Given the description of an element on the screen output the (x, y) to click on. 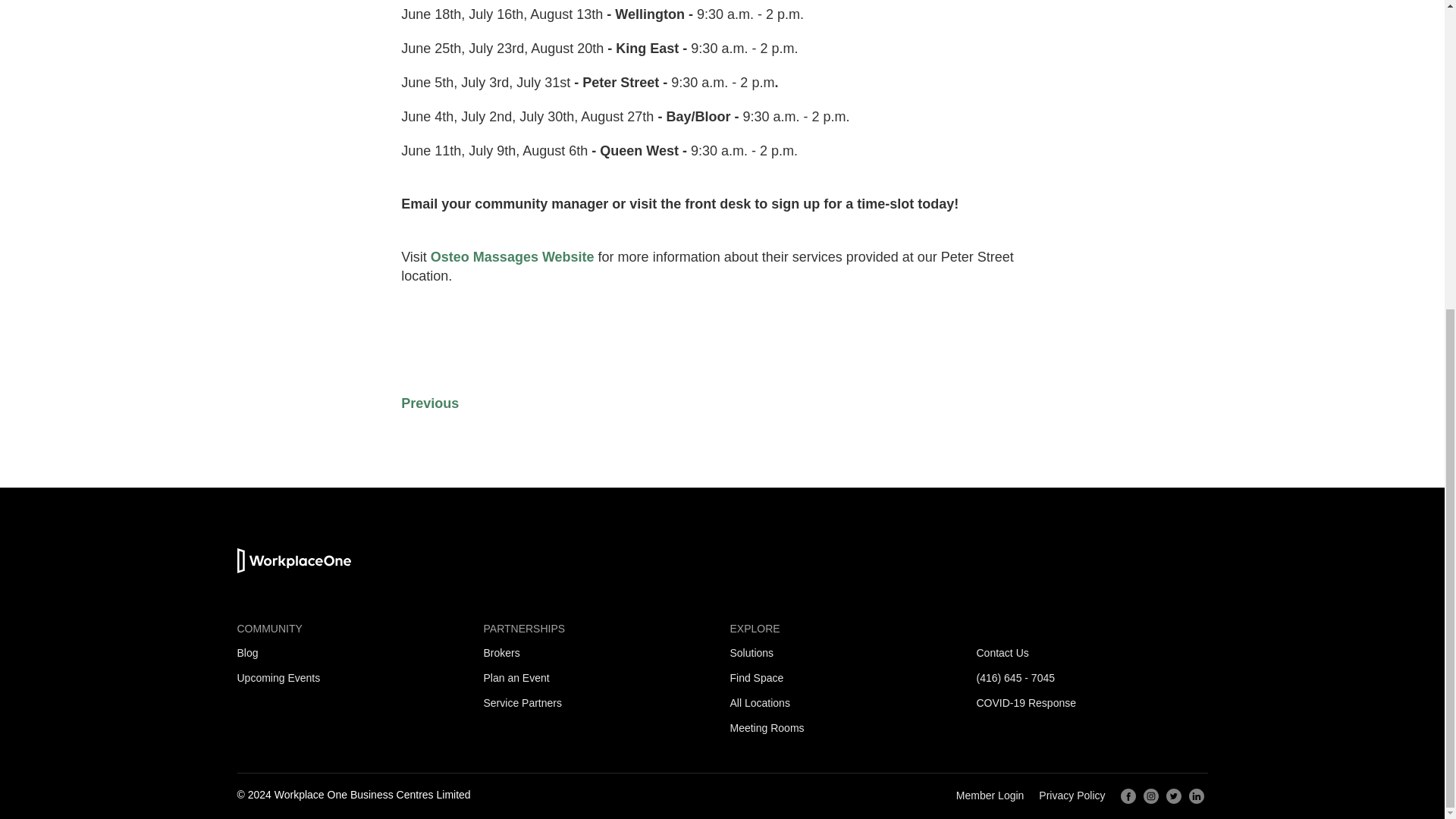
Solutions (751, 653)
Find Space (756, 677)
All Locations (759, 702)
Contact Us (1002, 653)
Osteo Massages Website (512, 256)
Meeting Rooms (766, 727)
Plan an Event (516, 677)
COVID-19 Response (1026, 702)
Previous (429, 403)
Privacy Policy (1072, 795)
Brokers (501, 653)
Upcoming Events (277, 677)
Blog (246, 653)
Service Partners (522, 702)
Member Login (990, 795)
